Given the description of an element on the screen output the (x, y) to click on. 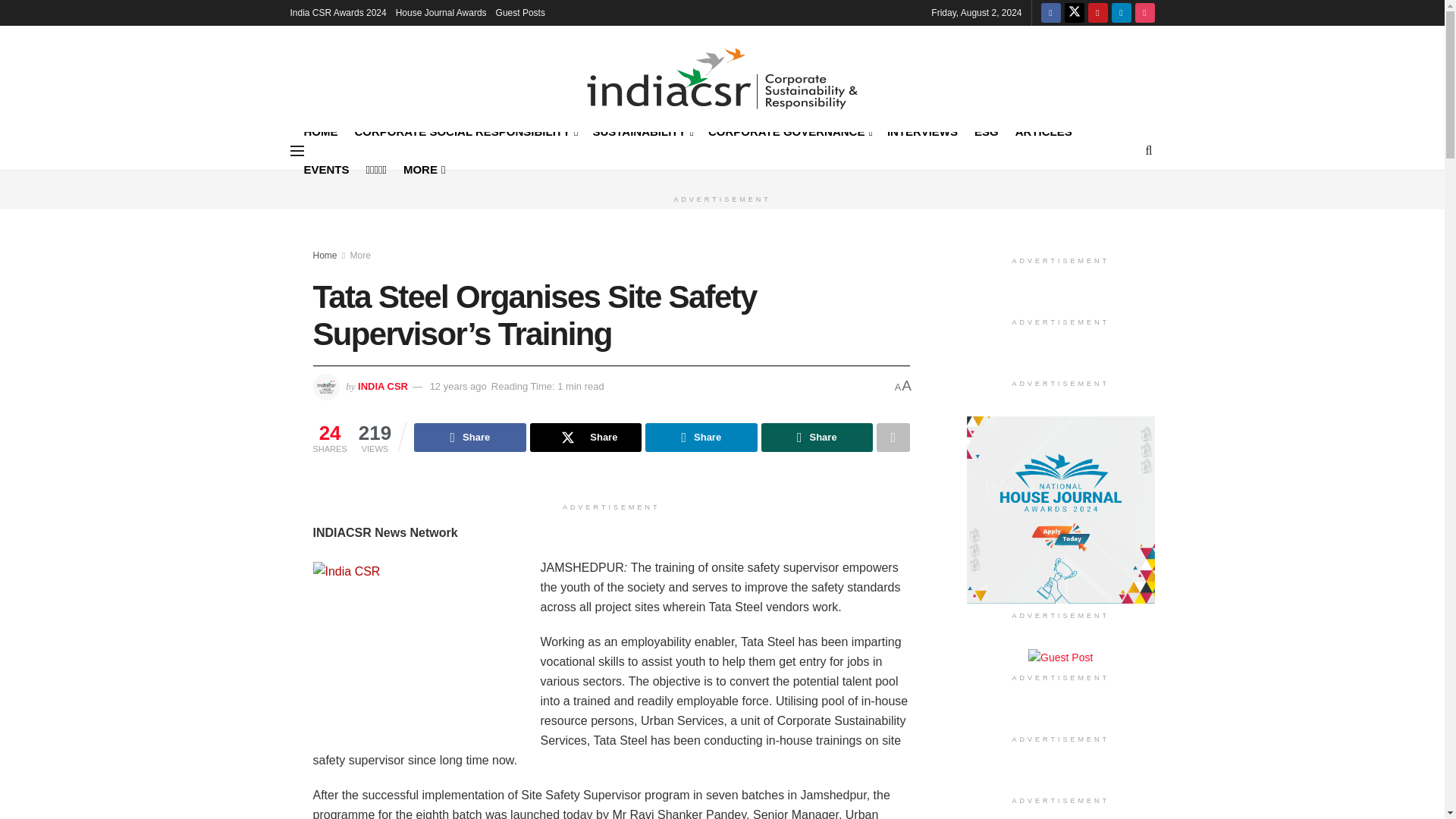
HOME (319, 131)
Guest Posts (520, 12)
safety event in tata steel (426, 646)
India CSR Awards 2024 (337, 12)
CORPORATE GOVERNANCE (788, 131)
ESG (986, 131)
INTERVIEWS (922, 131)
House Journal Awards (441, 12)
CORPORATE SOCIAL RESPONSIBILITY (465, 131)
ARTICLES (1042, 131)
SUSTAINABILITY (641, 131)
EVENTS (325, 169)
